Given the description of an element on the screen output the (x, y) to click on. 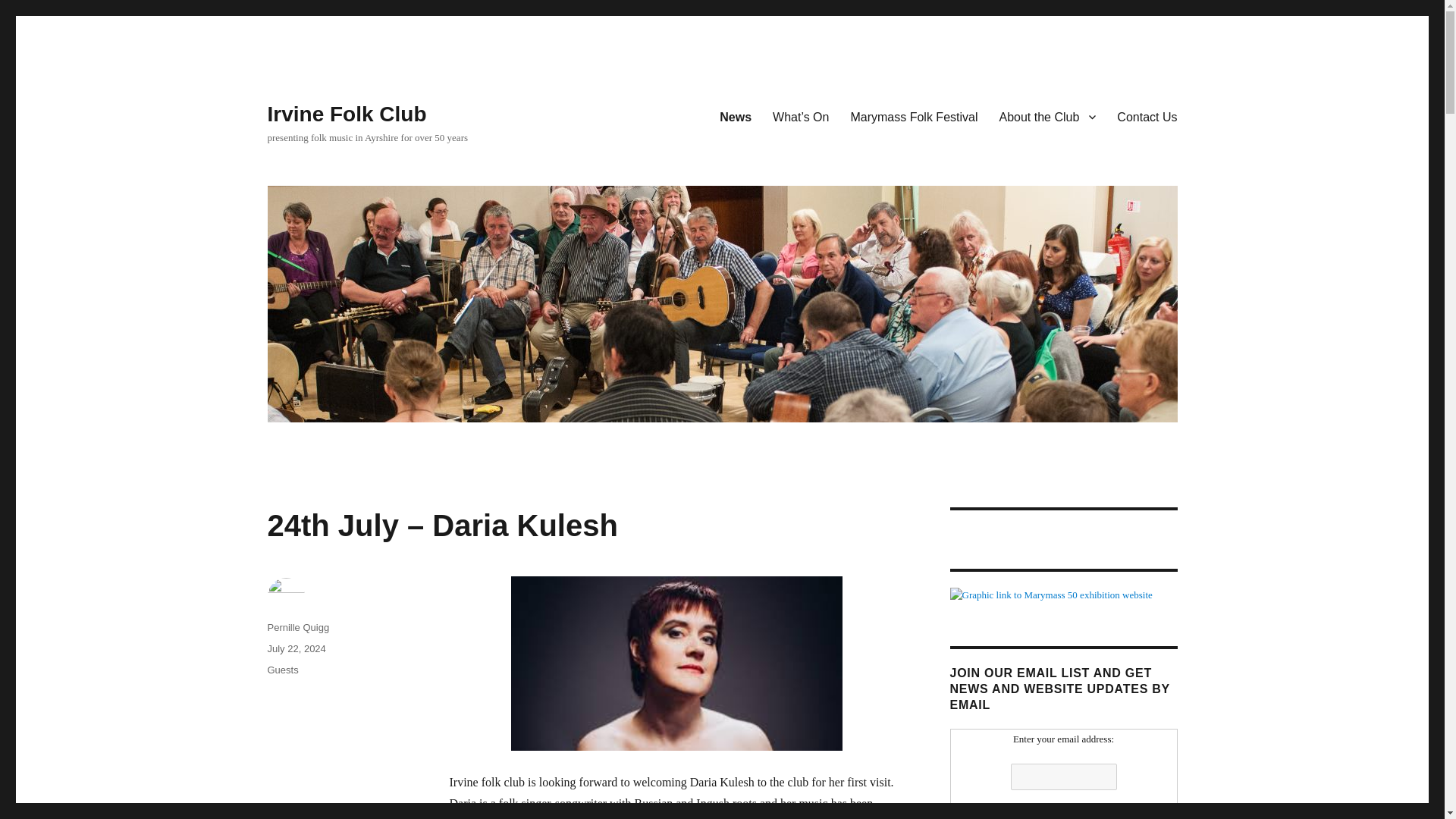
About the Club (1047, 116)
Irvine Folk Club guest list (800, 116)
Pernille Quigg (297, 627)
About Irvine Folk Club (1047, 116)
July 22, 2024 (295, 648)
Irvine Folk Club (346, 114)
Contact Us (1147, 116)
Subscribe (1062, 812)
Contact details for the Irvine Folk Club (1147, 116)
News (735, 116)
Guests (282, 669)
Marymass Folk Festival (914, 116)
